Given the description of an element on the screen output the (x, y) to click on. 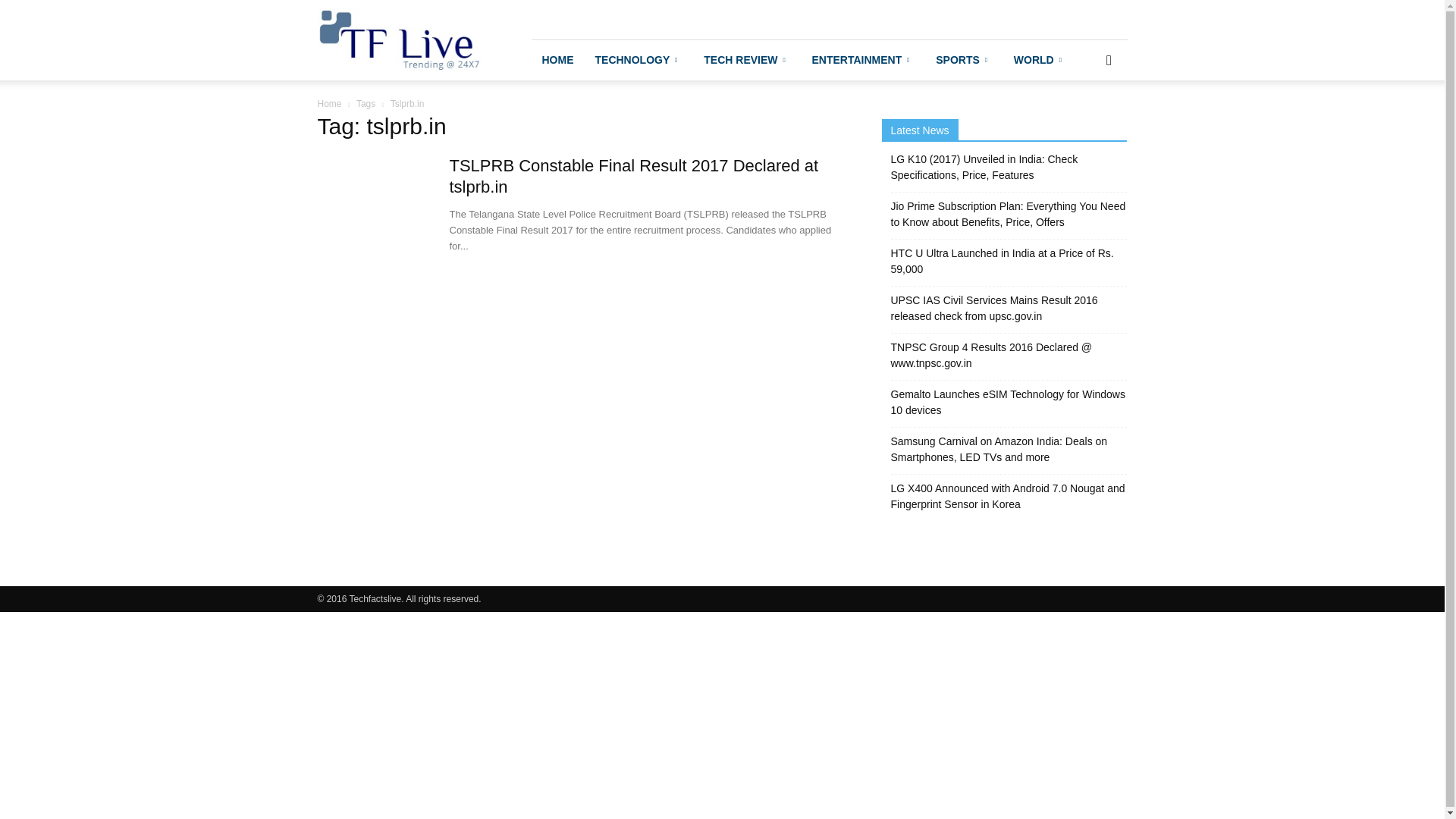
HOME (557, 60)
TECH REVIEW (746, 60)
TF Live (399, 39)
TECHNOLOGY (638, 60)
